Given the description of an element on the screen output the (x, y) to click on. 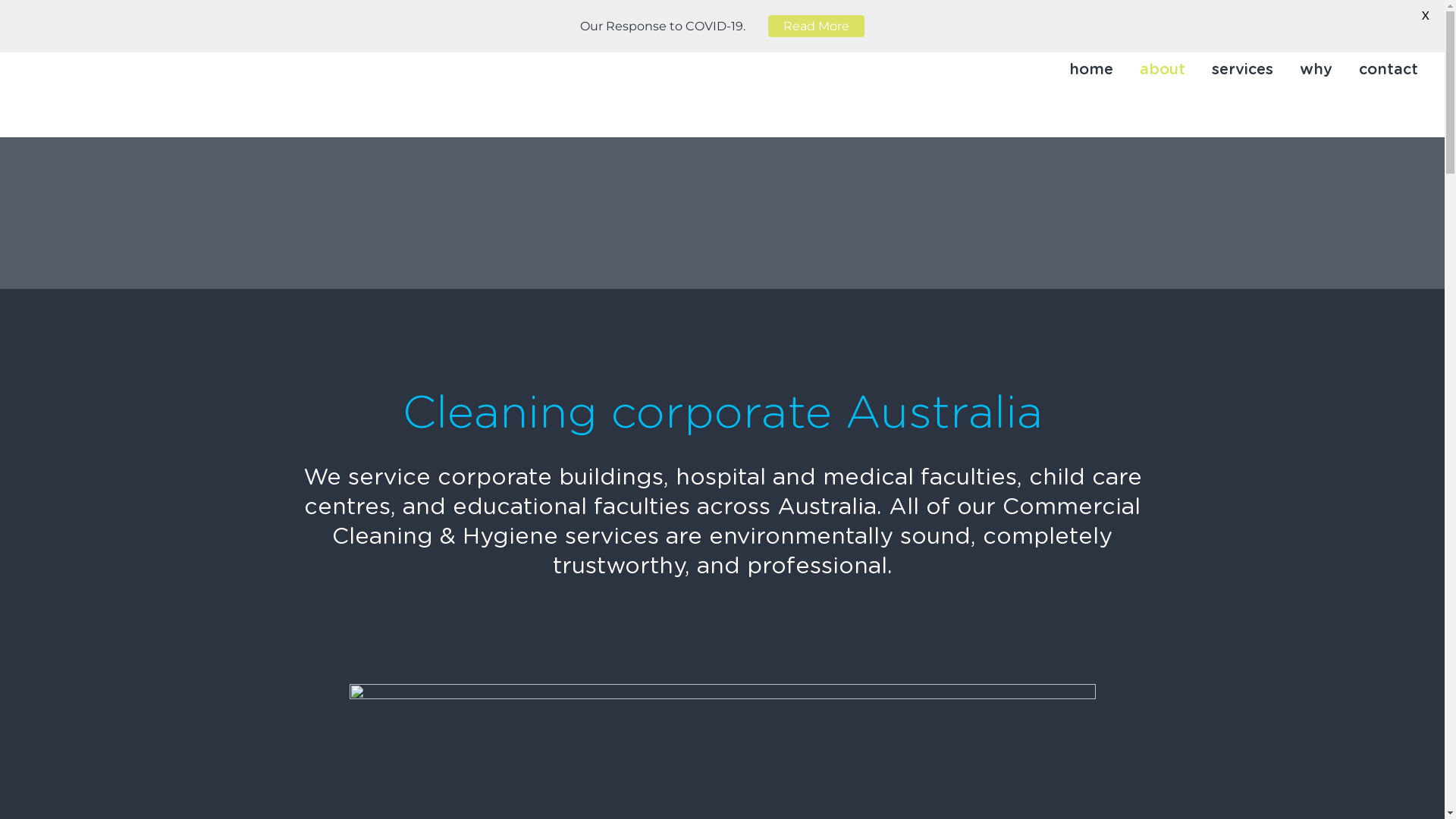
about Element type: text (1162, 69)
X Element type: text (1425, 14)
Send Message Element type: text (731, 538)
why Element type: text (1315, 69)
GET A FREE QUOTE Element type: text (1361, 29)
contact Element type: text (1388, 69)
home Element type: text (1091, 69)
Read More Element type: text (816, 26)
services Element type: text (1242, 69)
